Given the description of an element on the screen output the (x, y) to click on. 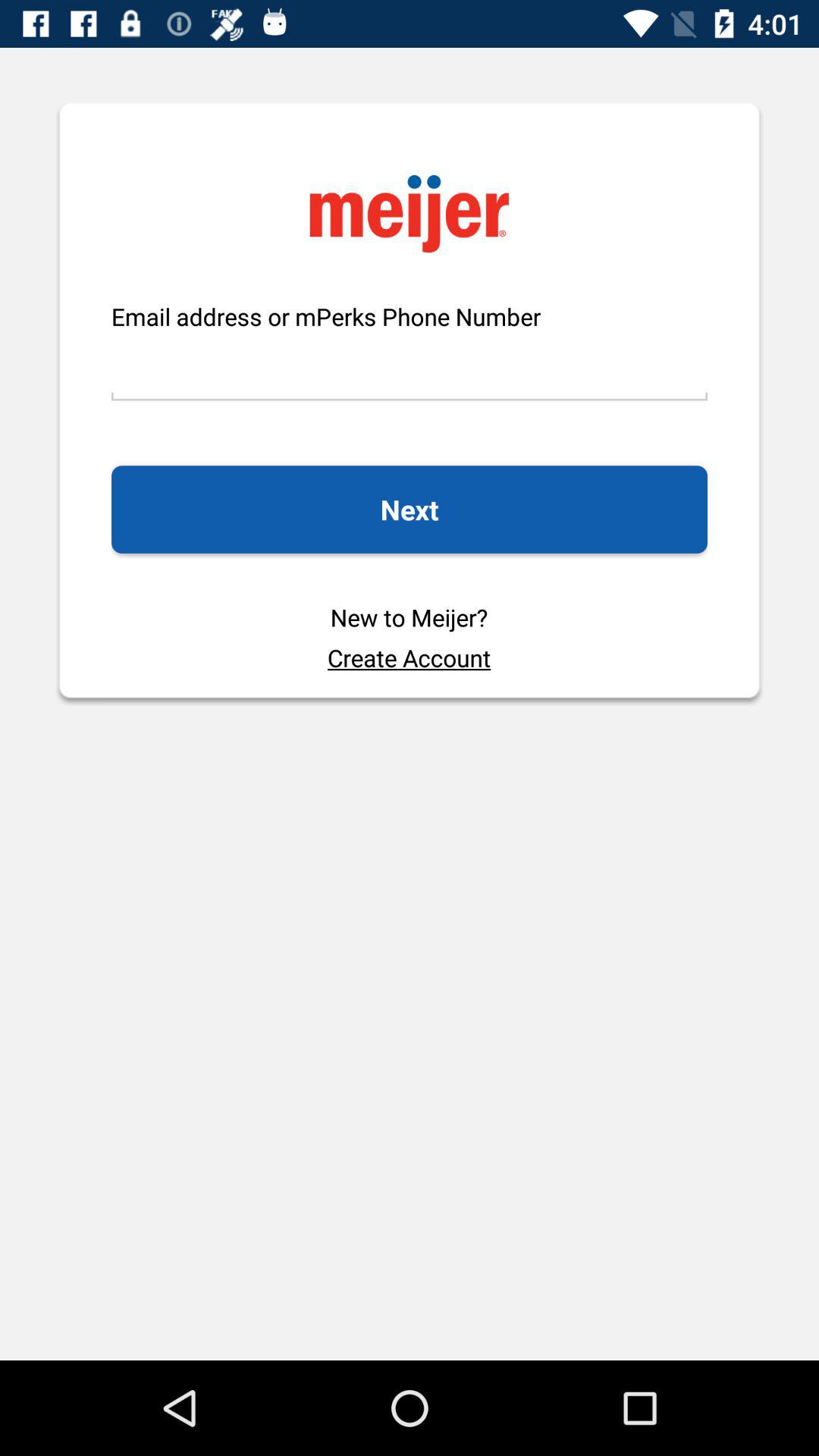
click the create account icon (408, 657)
